Given the description of an element on the screen output the (x, y) to click on. 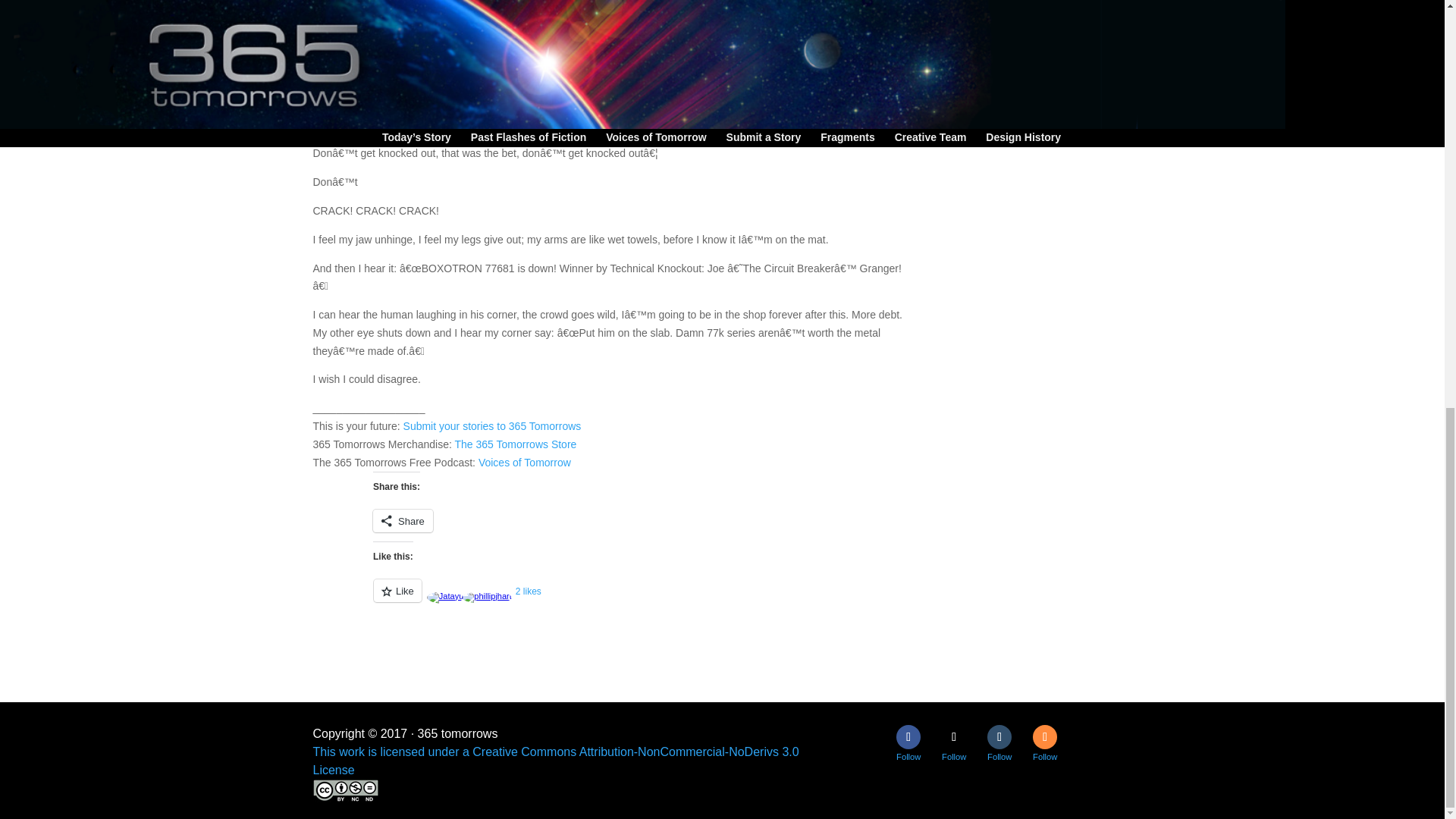
Follow on Twitter (954, 736)
Share (402, 520)
Follow on Facebook (908, 736)
Follow (1044, 736)
Voices of Tomorrow (524, 462)
Follow (999, 736)
The 365 Tomorrows Store (515, 444)
Follow on tumblr (999, 736)
Follow (908, 736)
Submit your stories to 365 Tomorrows (491, 426)
Like or Reblog (673, 598)
Follow (954, 736)
